Given the description of an element on the screen output the (x, y) to click on. 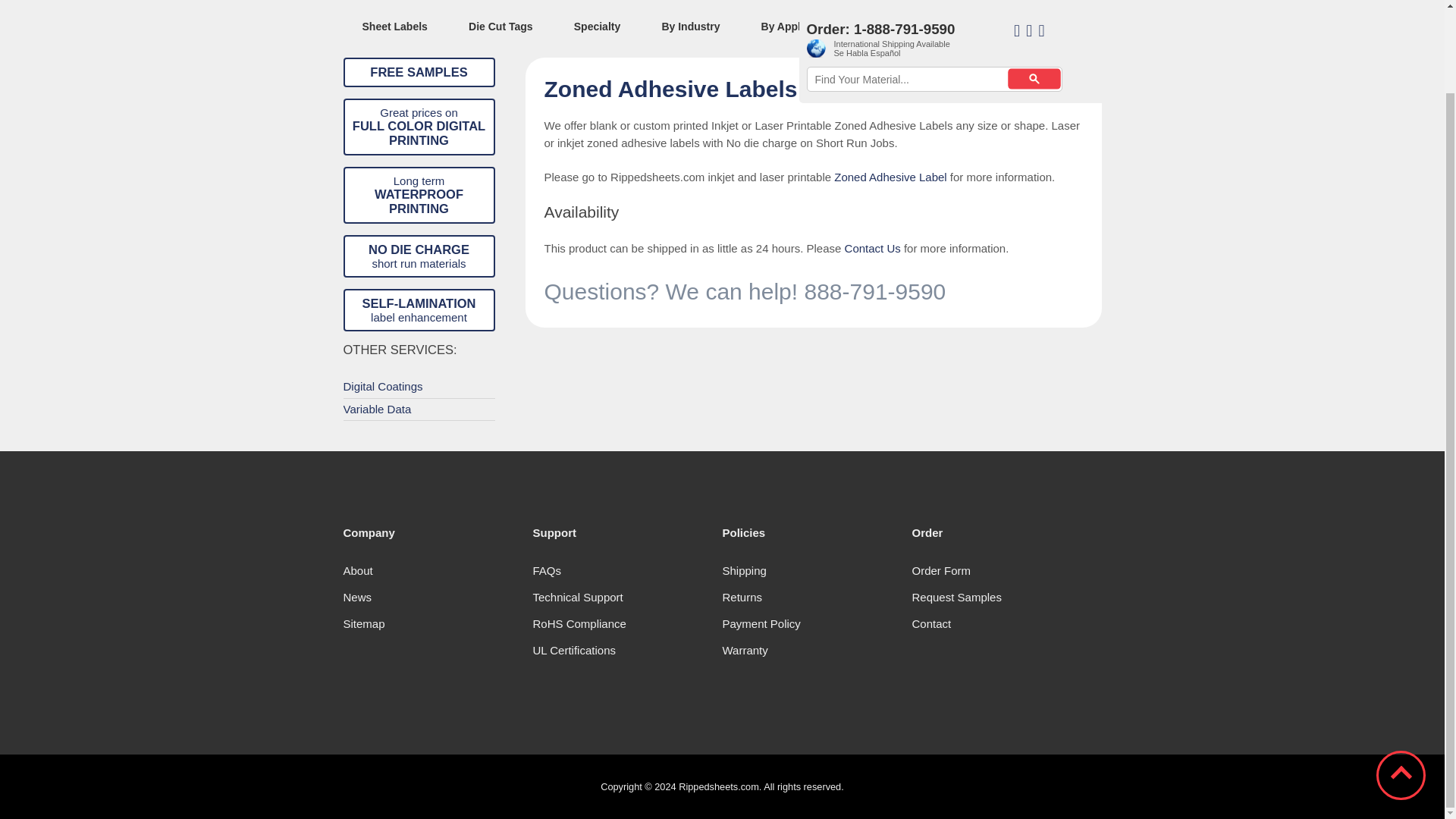
Sheet Labels (393, 26)
